Given the description of an element on the screen output the (x, y) to click on. 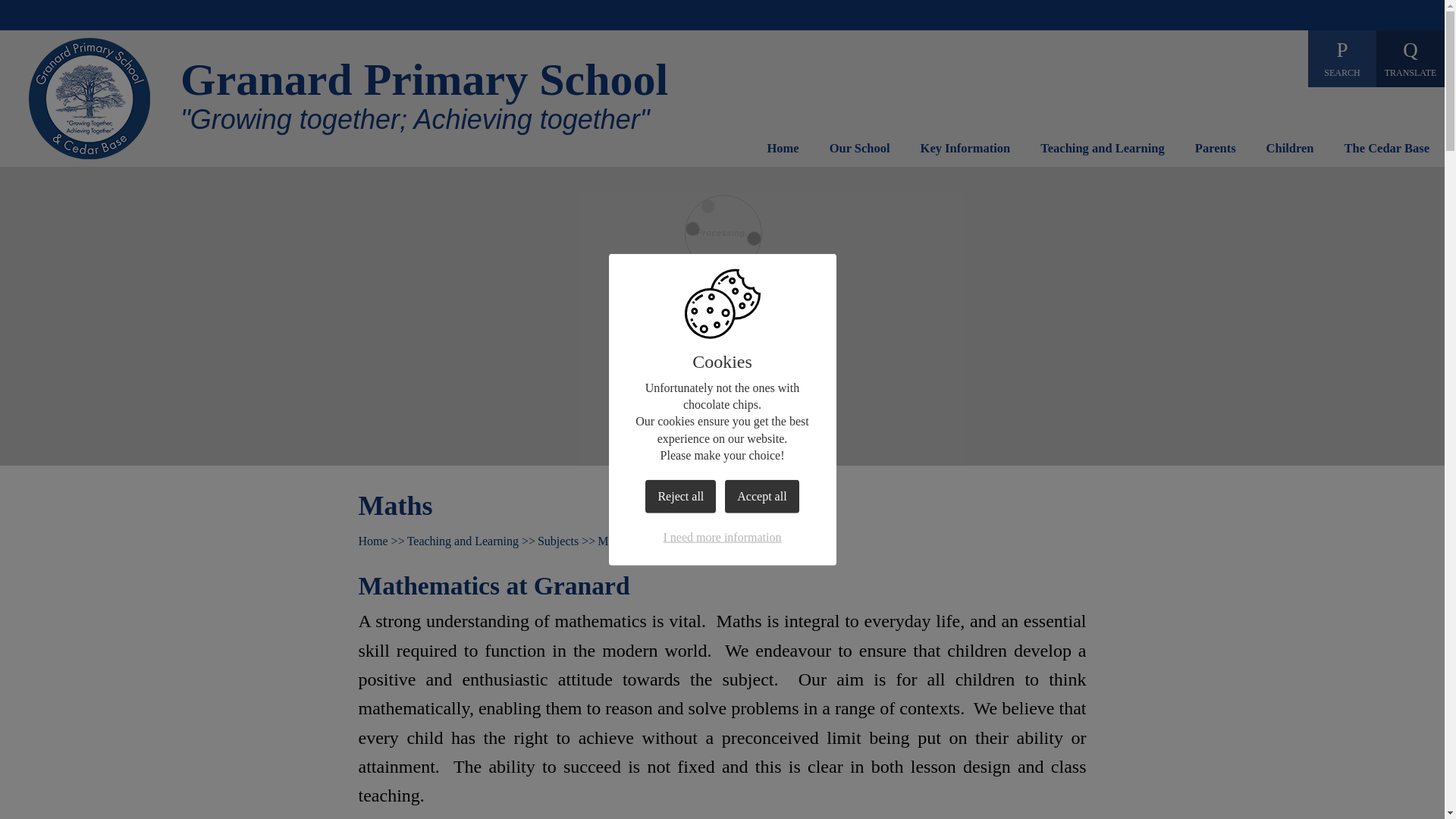
Key Information (965, 152)
Home (782, 152)
Our School (859, 152)
Home Page (89, 97)
